Given the description of an element on the screen output the (x, y) to click on. 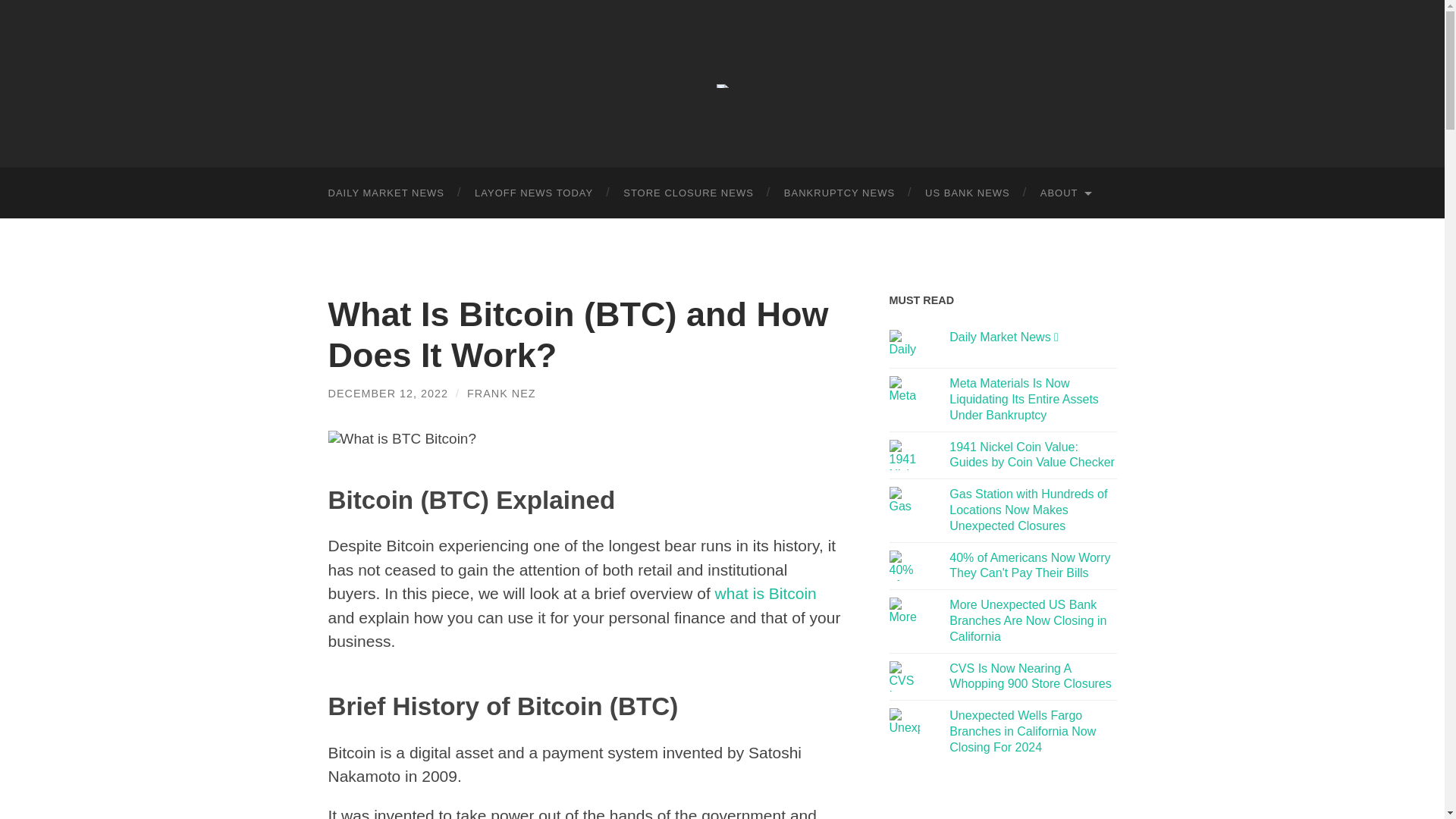
BANKRUPTCY NEWS (839, 192)
STORE CLOSURE NEWS (688, 192)
FRANK NEZ (501, 393)
Franknez.com (722, 85)
US BANK NEWS (967, 192)
Posts by Frank Nez (501, 393)
what is Bitcoin (765, 592)
DECEMBER 12, 2022 (387, 393)
